Given the description of an element on the screen output the (x, y) to click on. 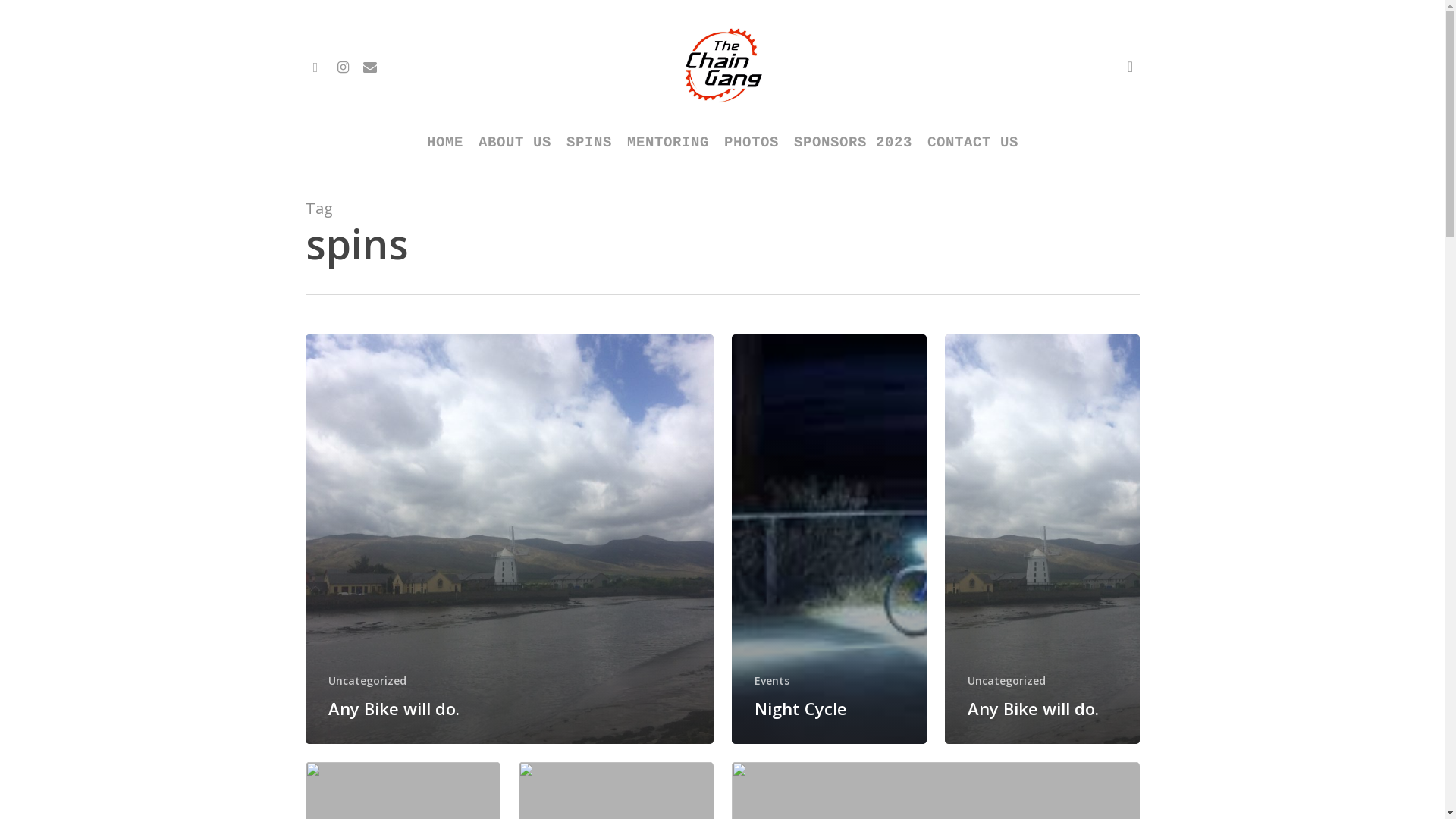
Any Bike will do. Element type: text (392, 707)
ABOUT US Element type: text (514, 142)
INSTAGRAM Element type: text (342, 66)
Uncategorized Element type: text (366, 680)
Uncategorized Element type: text (1006, 680)
MENTORING Element type: text (666, 142)
FACEBOOK Element type: text (315, 66)
SPONSORS 2023 Element type: text (852, 142)
SPINS Element type: text (588, 142)
Any Bike will do. Element type: text (1032, 707)
EMAIL Element type: text (369, 66)
search Element type: text (1129, 67)
Events Element type: text (770, 680)
Night Cycle Element type: text (799, 707)
HOME Element type: text (444, 142)
PHOTOS Element type: text (750, 142)
CONTACT US Element type: text (972, 142)
